Given the description of an element on the screen output the (x, y) to click on. 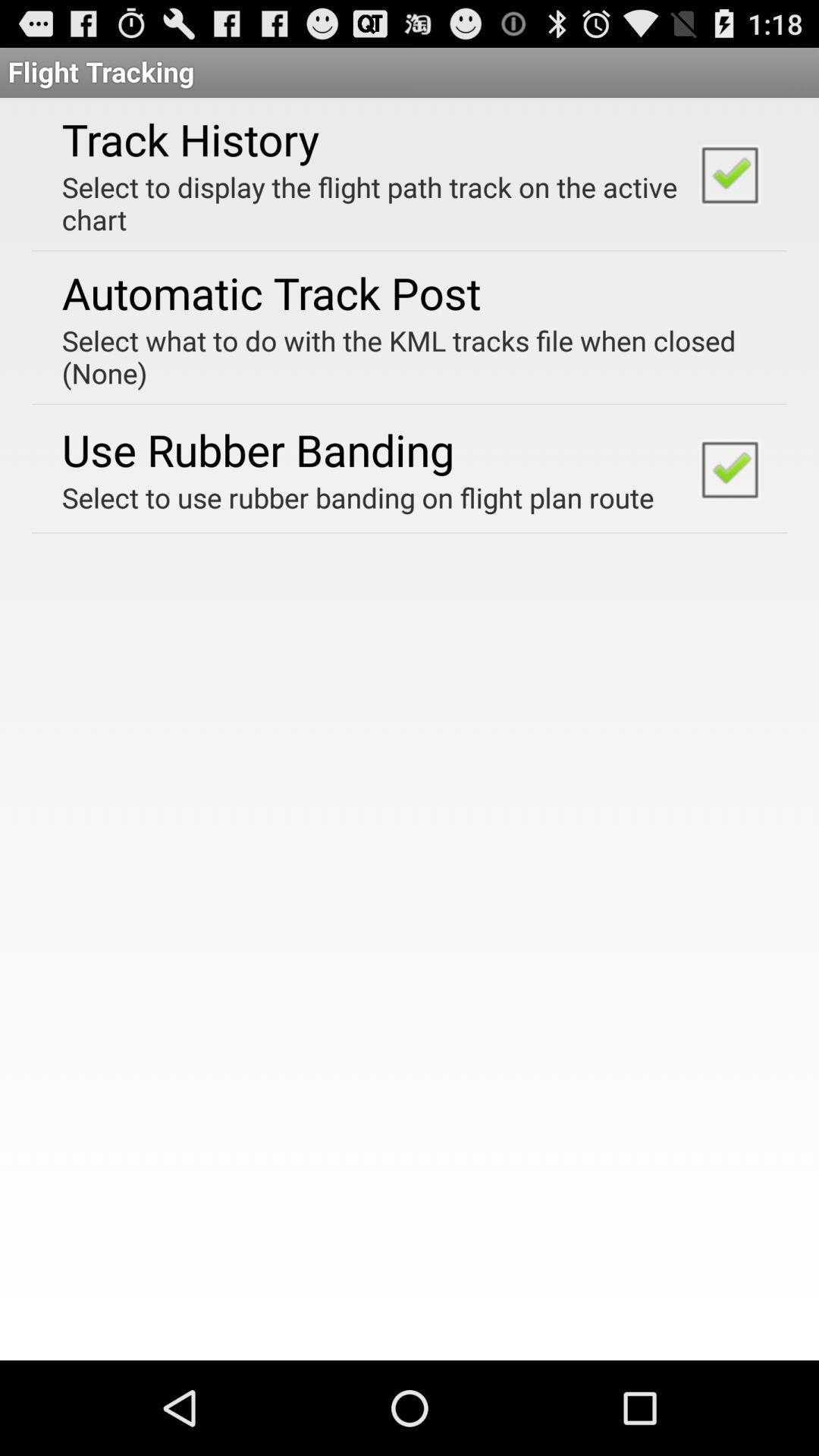
select the track history app (190, 138)
